Given the description of an element on the screen output the (x, y) to click on. 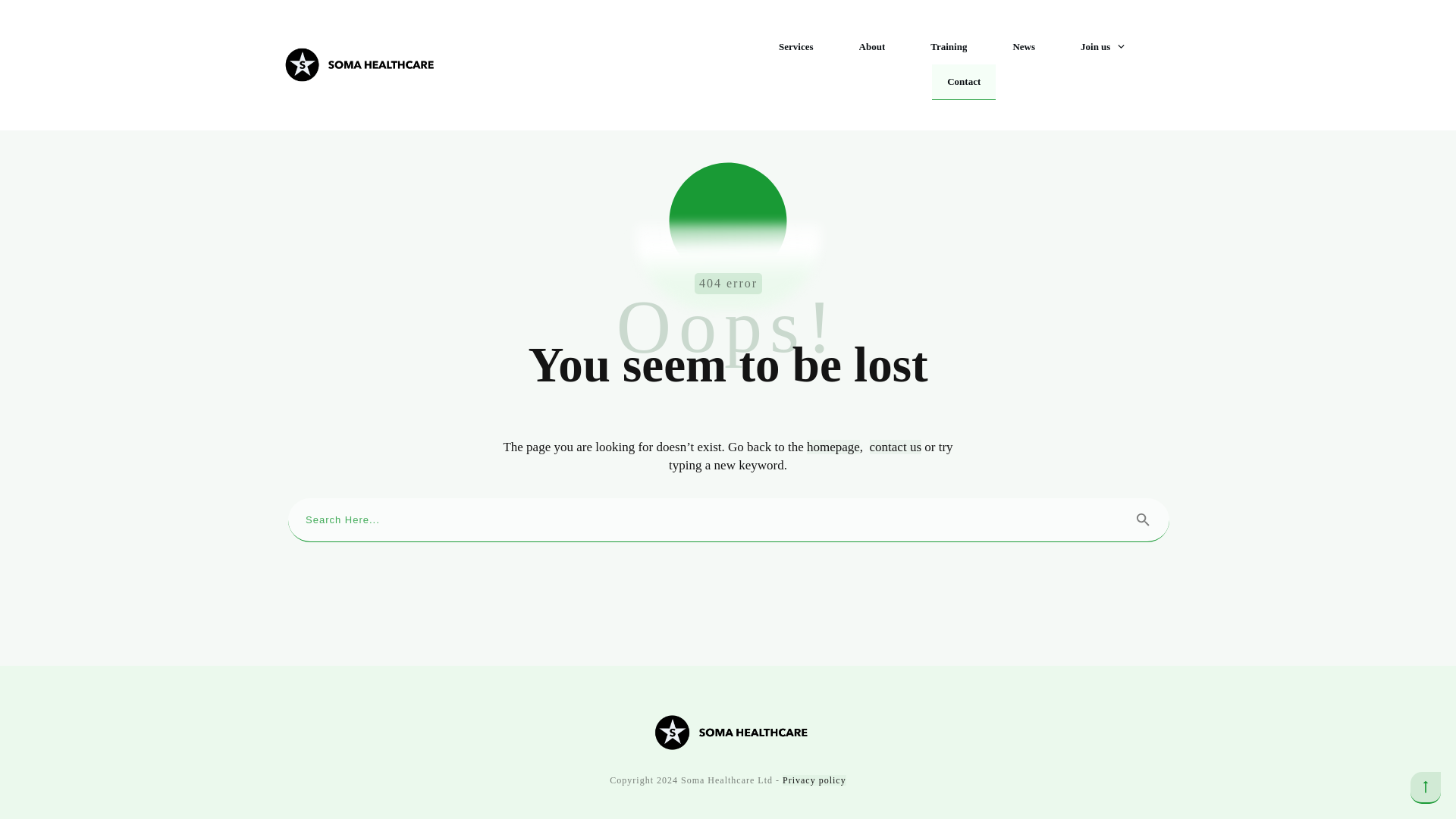
Contact (963, 80)
404 error (727, 265)
Services (795, 46)
Join us (1102, 46)
Privacy policy (814, 779)
Training (948, 46)
About (872, 46)
homepage (833, 446)
News (1023, 46)
contact us (895, 446)
